Given the description of an element on the screen output the (x, y) to click on. 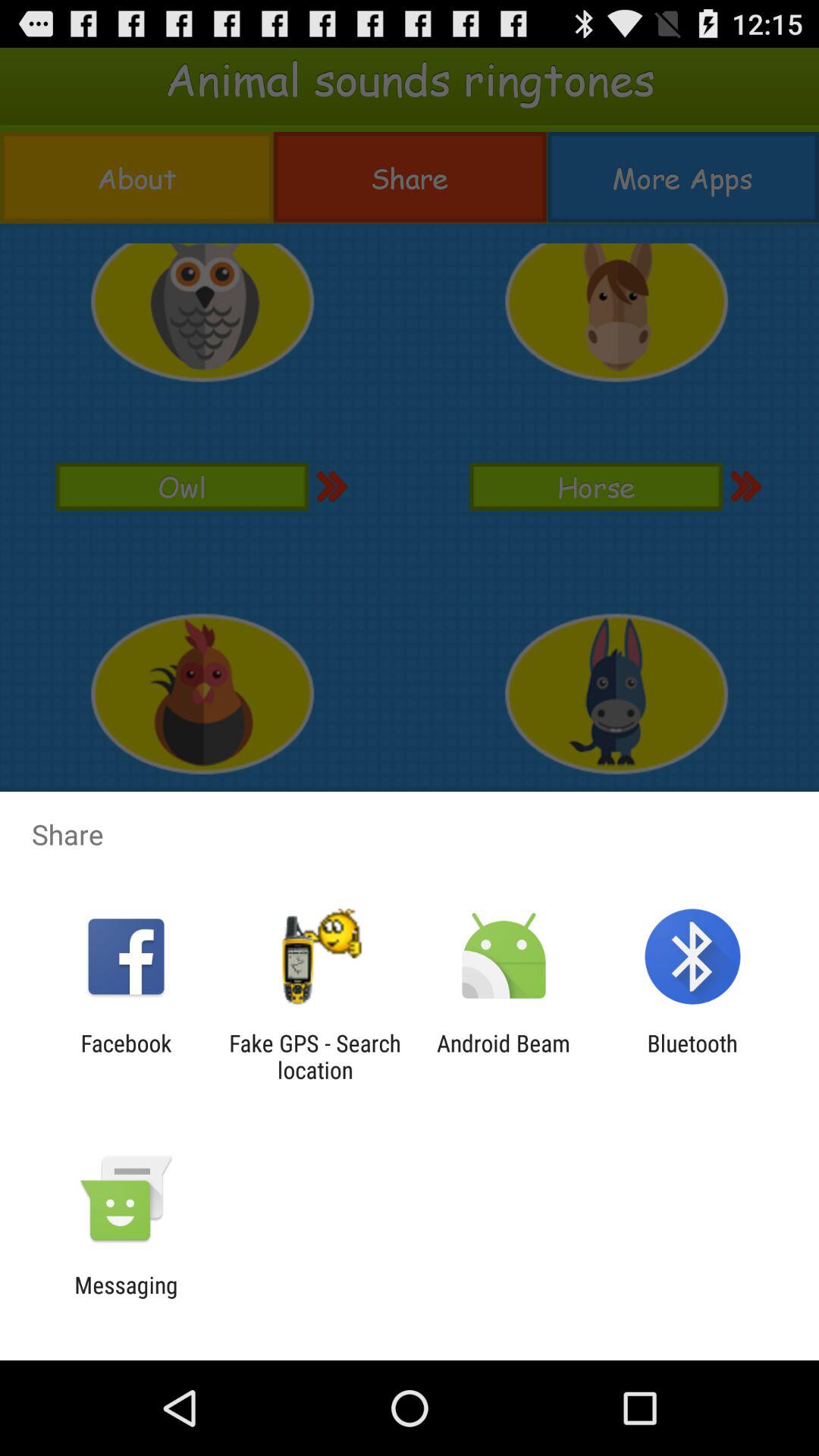
choose the android beam app (503, 1056)
